Given the description of an element on the screen output the (x, y) to click on. 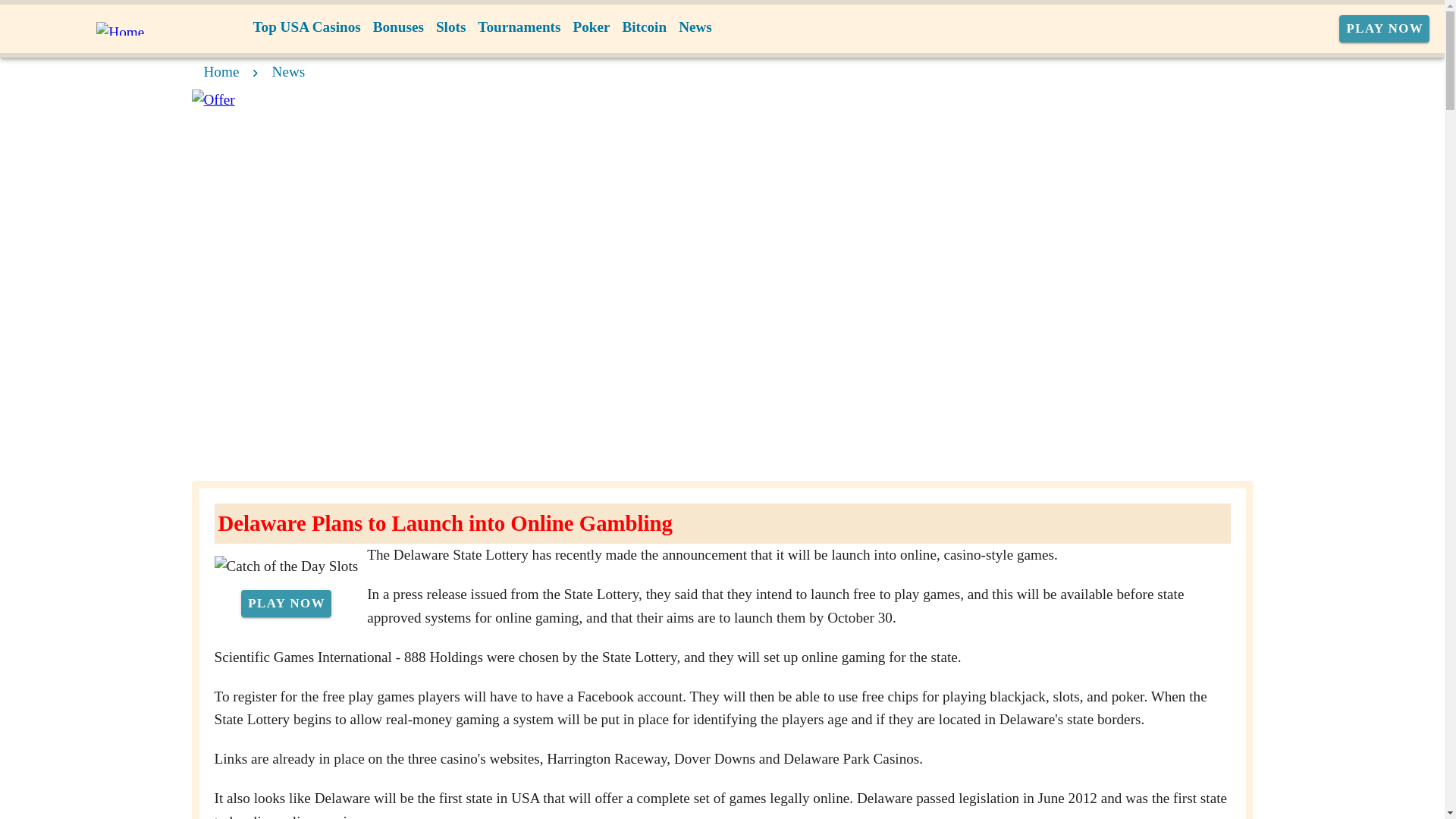
Slots (450, 27)
PLAY NOW (286, 603)
Poker (590, 27)
Bitcoin (643, 27)
PLAY NOW (1384, 28)
Tournaments (518, 27)
Home (220, 71)
News (694, 27)
Bonuses (397, 27)
News (288, 71)
Top USA Casinos (306, 27)
